Given the description of an element on the screen output the (x, y) to click on. 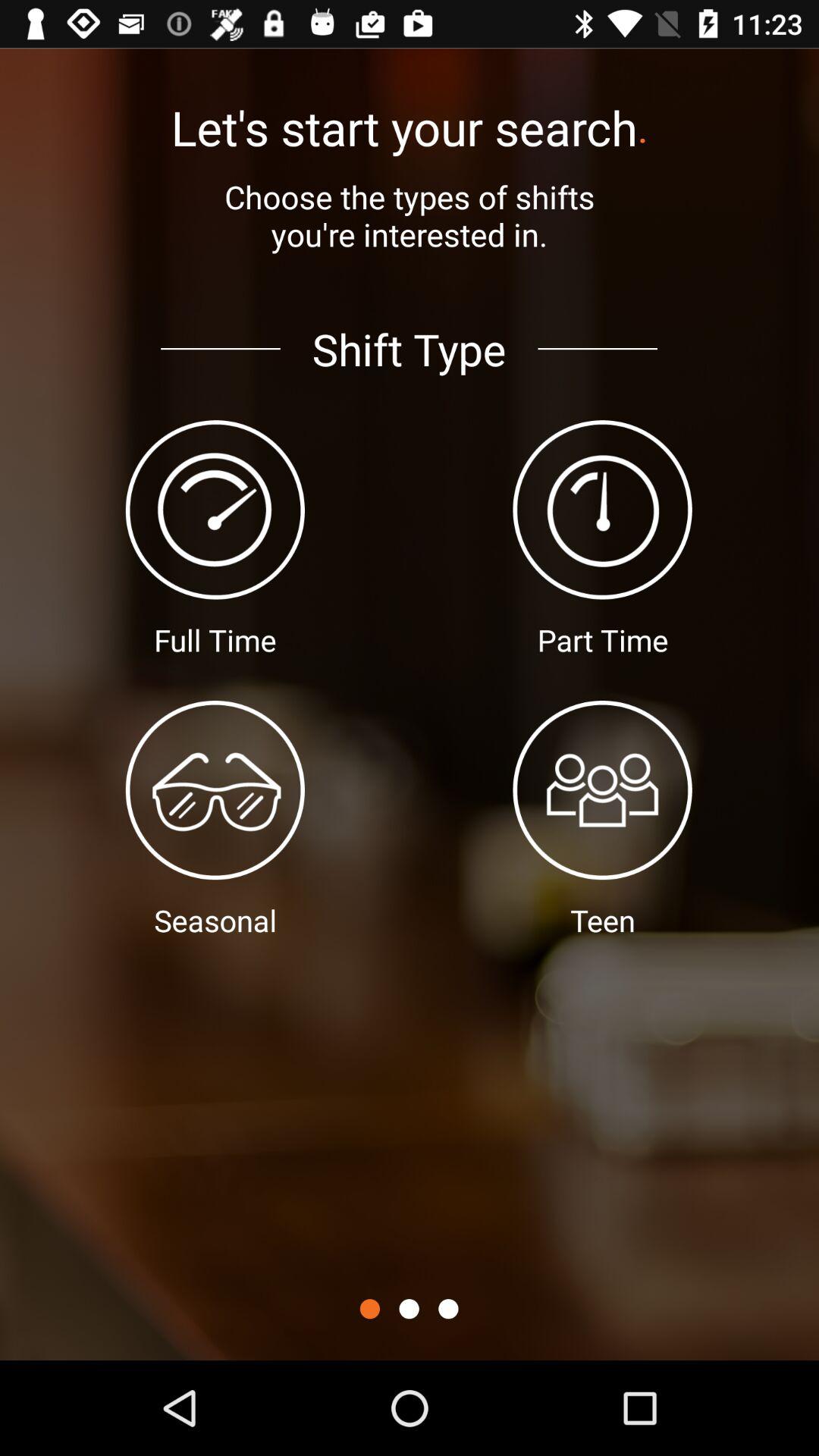
first menu page (369, 1308)
